Given the description of an element on the screen output the (x, y) to click on. 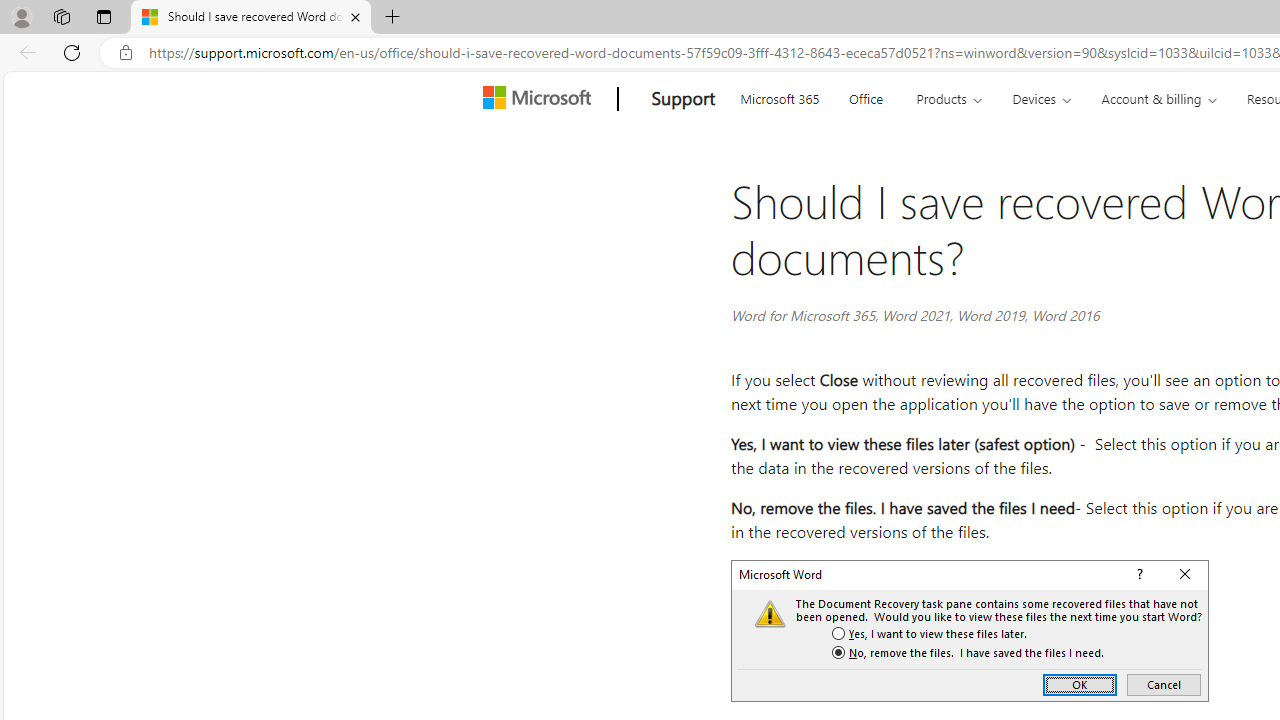
Tab actions menu (104, 16)
Workspaces (61, 16)
Refresh (72, 52)
Personal Profile (21, 16)
